Given the description of an element on the screen output the (x, y) to click on. 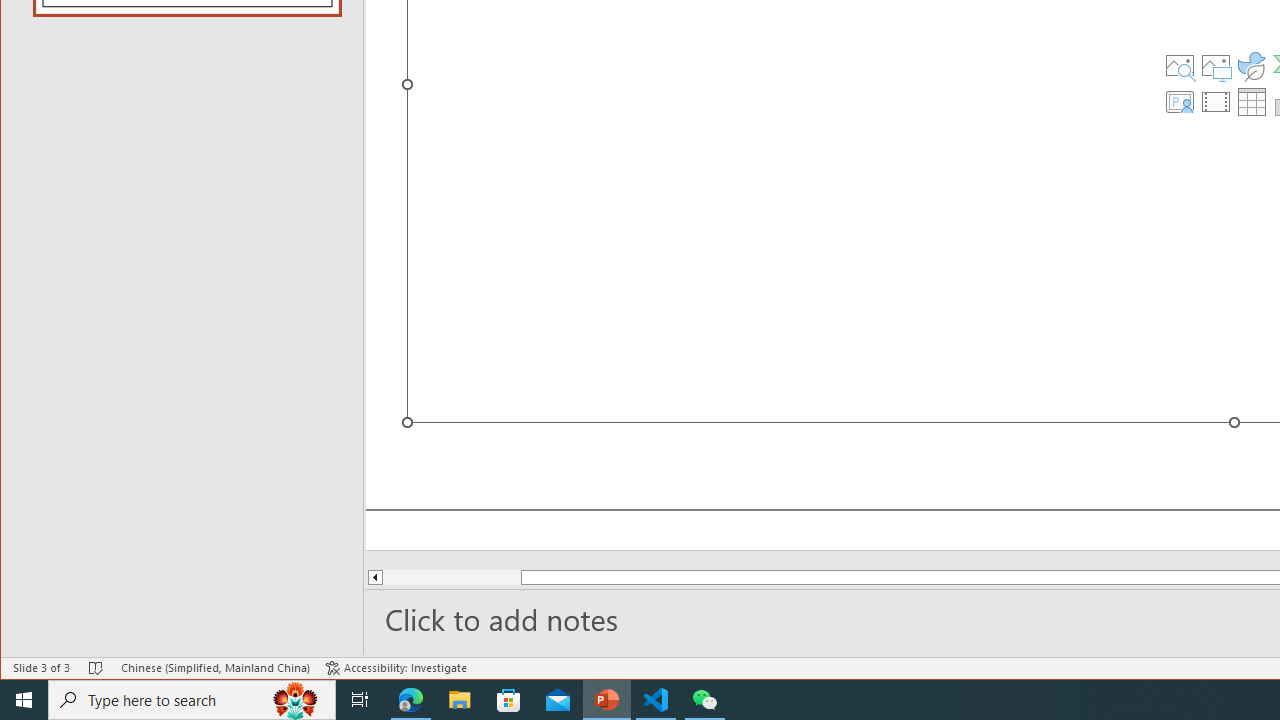
Stock Images (1179, 65)
Type here to search (191, 699)
Task View (359, 699)
Insert Cameo (1179, 101)
Insert an Icon (1252, 65)
